Given the description of an element on the screen output the (x, y) to click on. 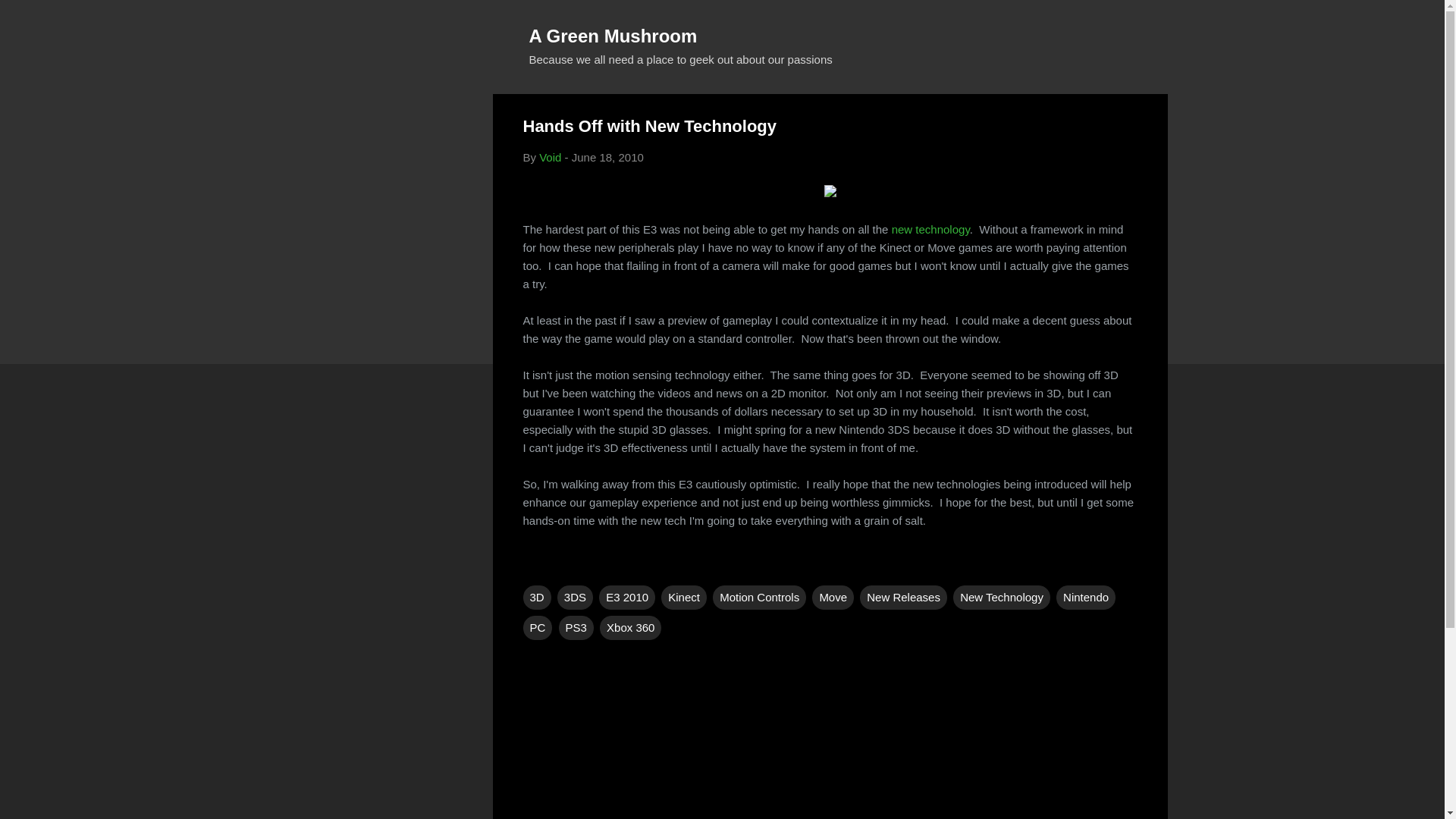
Void (549, 156)
Kinect (683, 597)
author profile (549, 156)
permanent link (607, 156)
New Releases (903, 597)
PS3 (576, 627)
E3 2010 (626, 597)
Xbox 360 (630, 627)
new technology (930, 228)
New Technology (1001, 597)
